Given the description of an element on the screen output the (x, y) to click on. 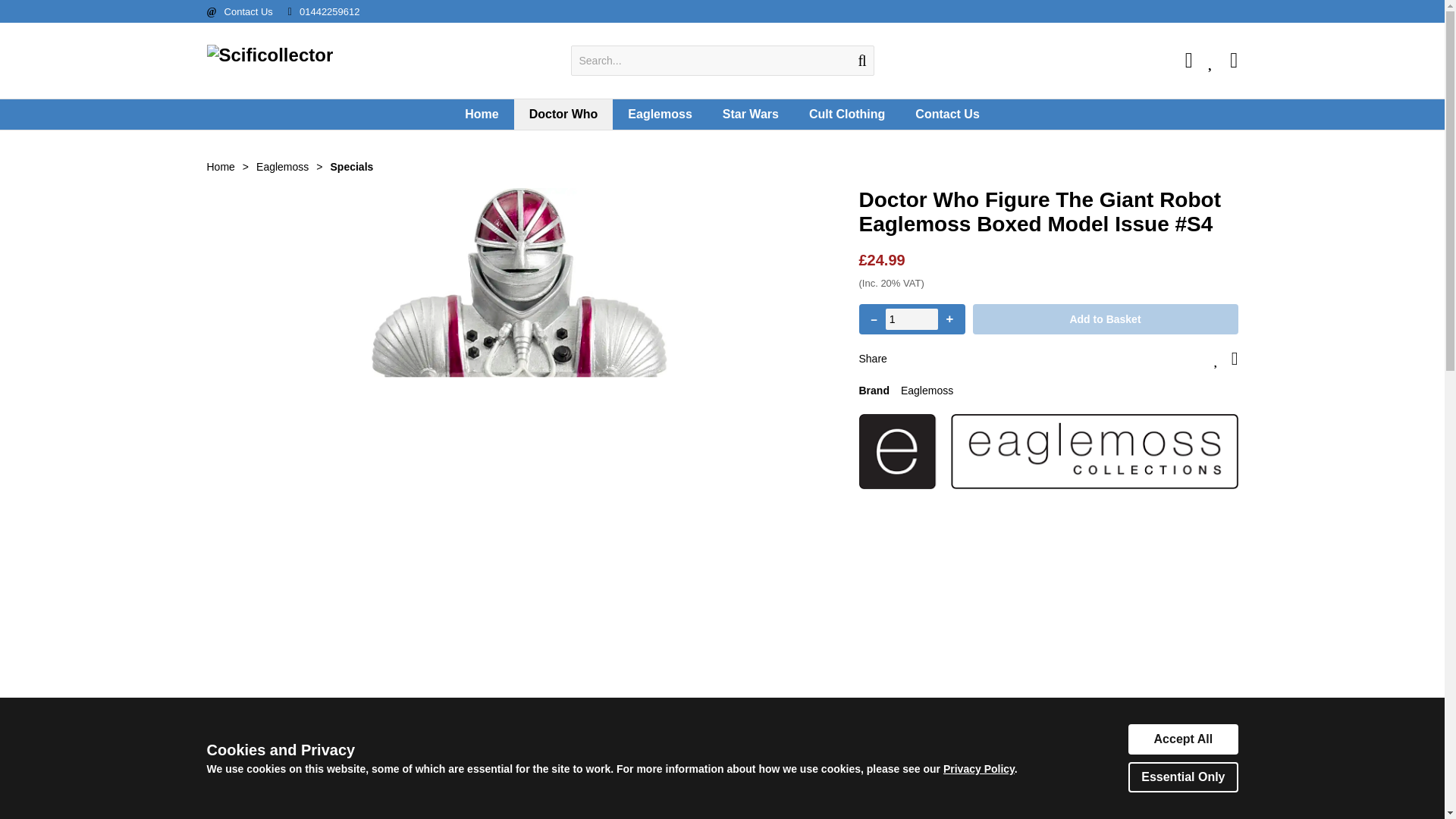
Contact Us (248, 11)
Doctor Who (562, 114)
Star Wars (750, 114)
Eaglemoss (659, 114)
01442259612 (329, 11)
Home (481, 114)
1 (912, 319)
